Given the description of an element on the screen output the (x, y) to click on. 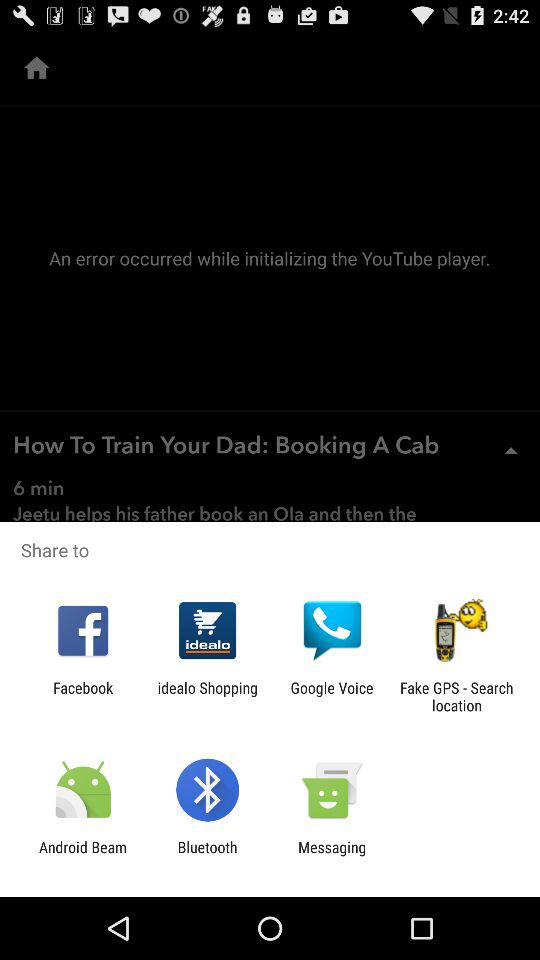
press the item next to google voice (207, 696)
